Given the description of an element on the screen output the (x, y) to click on. 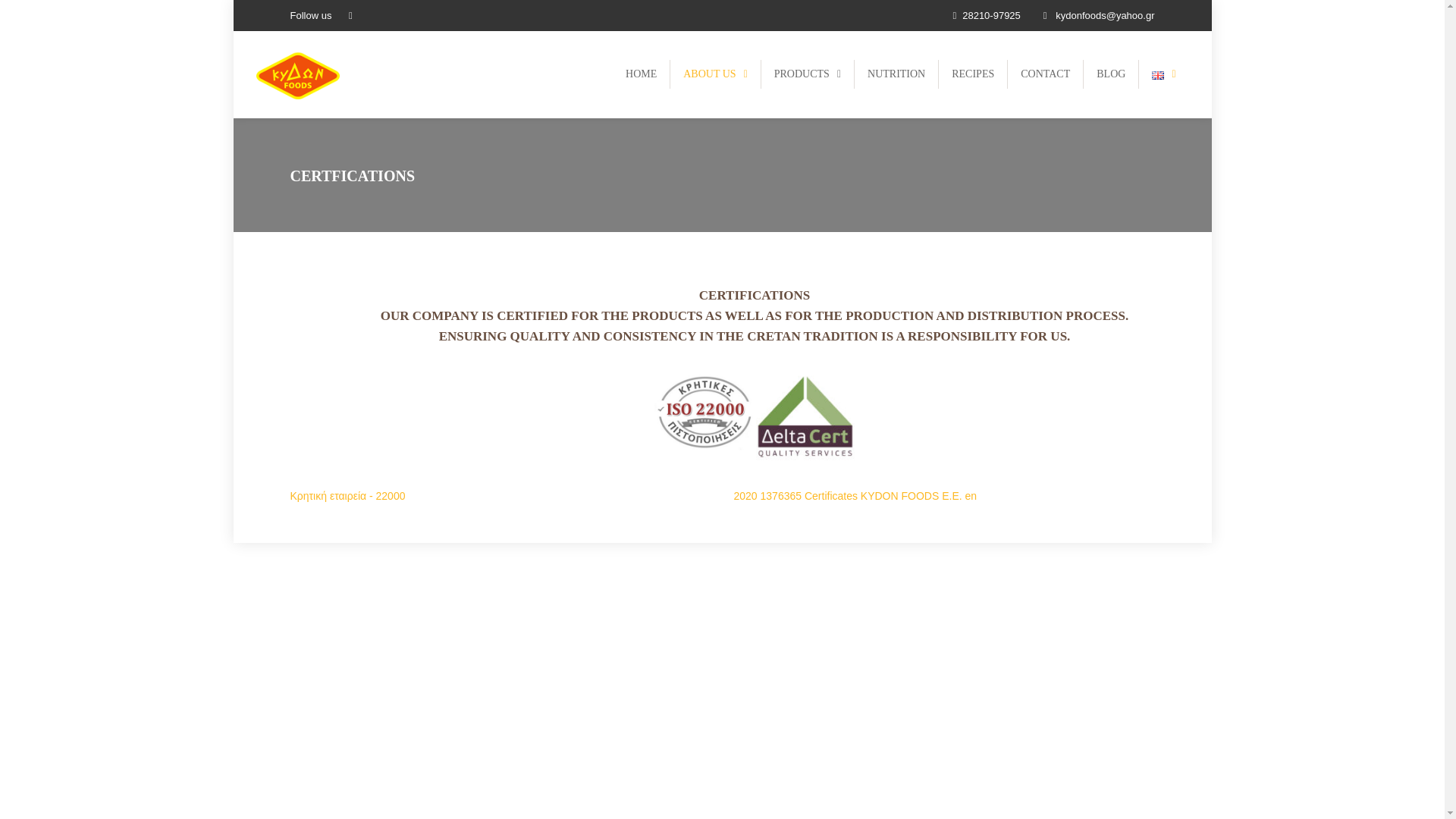
HOME (640, 73)
ABOUT US (714, 73)
NUTRITION (895, 73)
BLOG (1110, 73)
RECIPES (973, 73)
CONTACT (1045, 73)
PRODUCTS (807, 73)
